Given the description of an element on the screen output the (x, y) to click on. 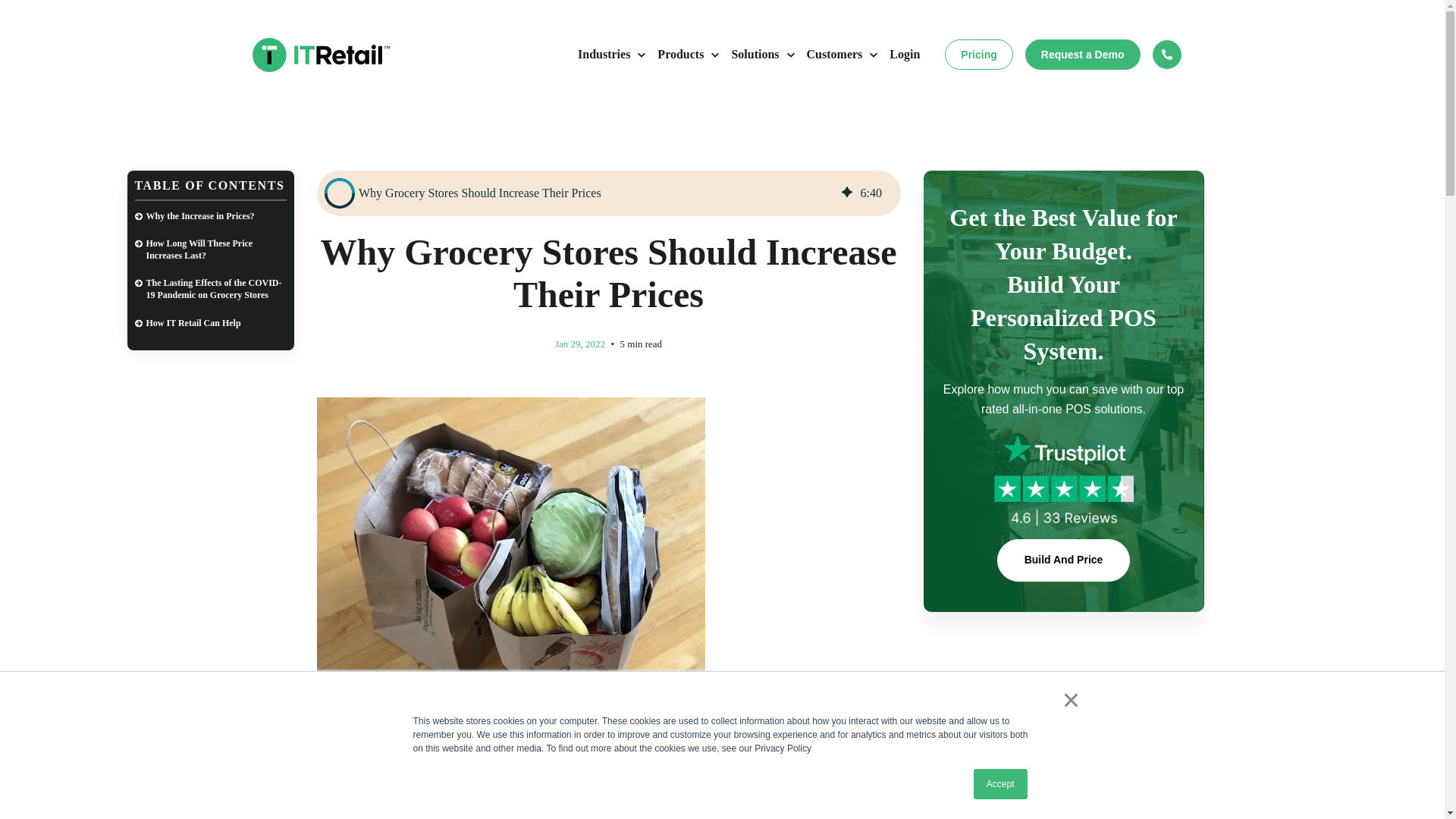
Request a Demo (1082, 54)
Pricing (977, 54)
Customers (841, 53)
Industries (611, 53)
Accept (1000, 784)
Pricing (977, 54)
Request a Demo (1082, 54)
Products (687, 53)
Solutions (762, 53)
Login (904, 53)
